Given the description of an element on the screen output the (x, y) to click on. 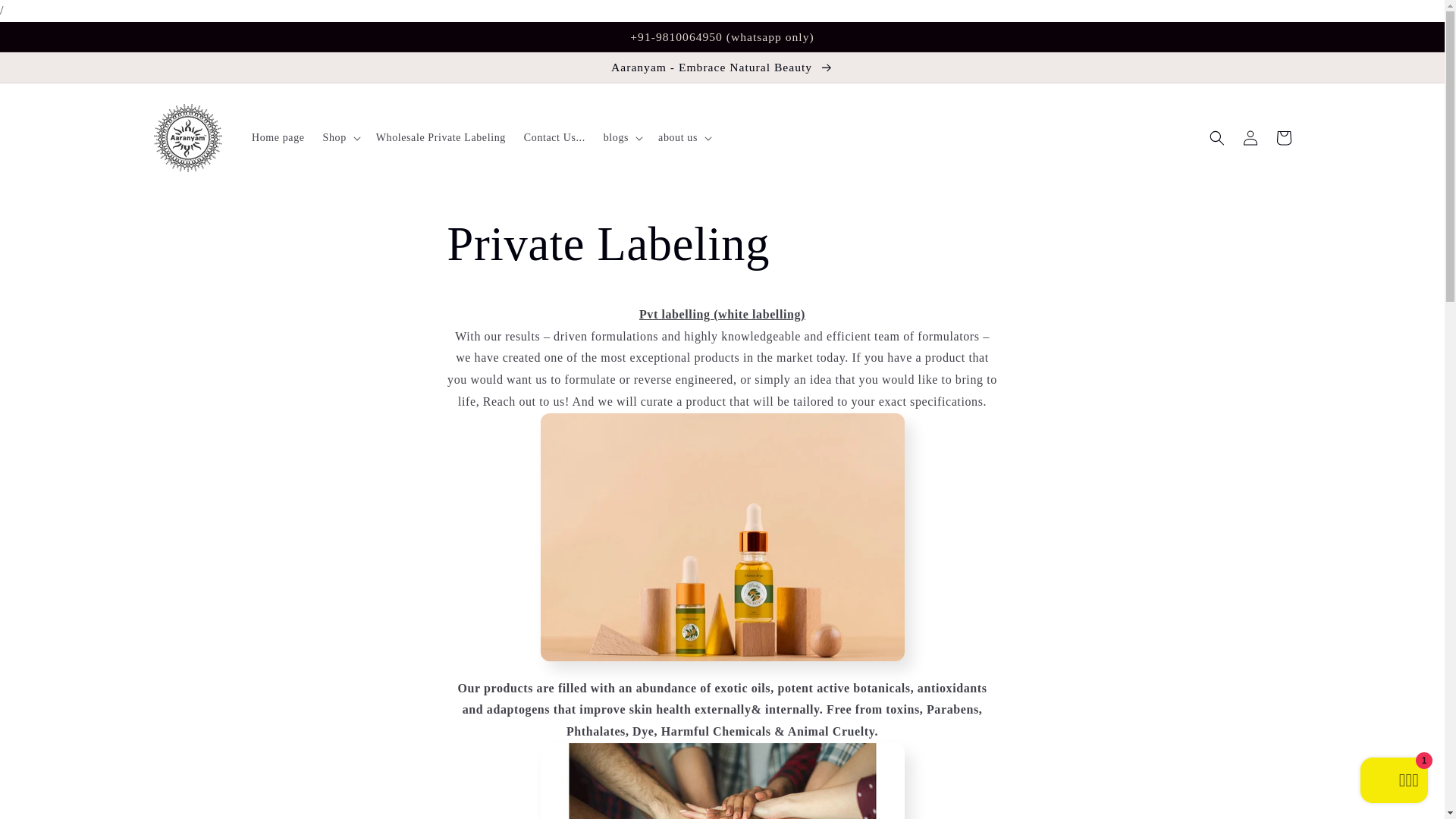
Skip to content (46, 18)
